Given the description of an element on the screen output the (x, y) to click on. 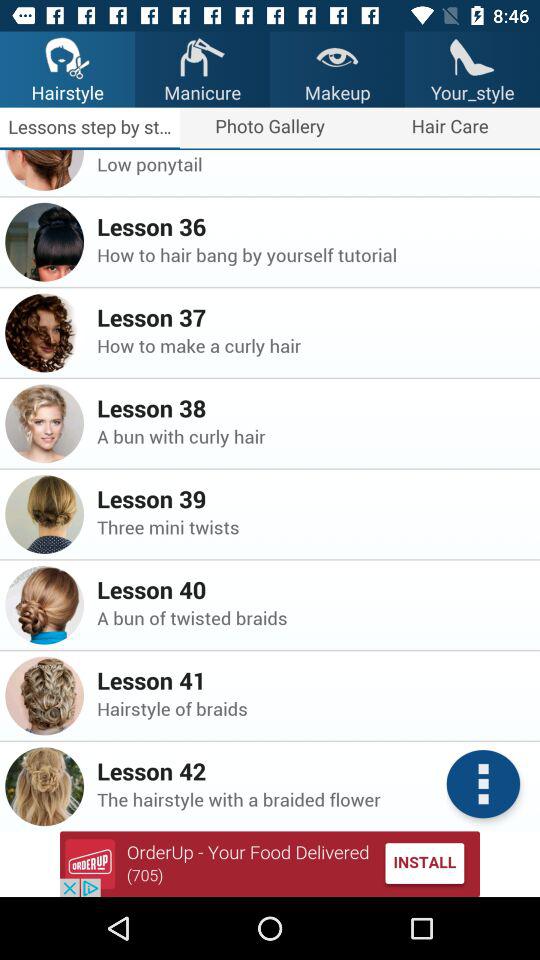
turn on lesson 36 icon (311, 226)
